Given the description of an element on the screen output the (x, y) to click on. 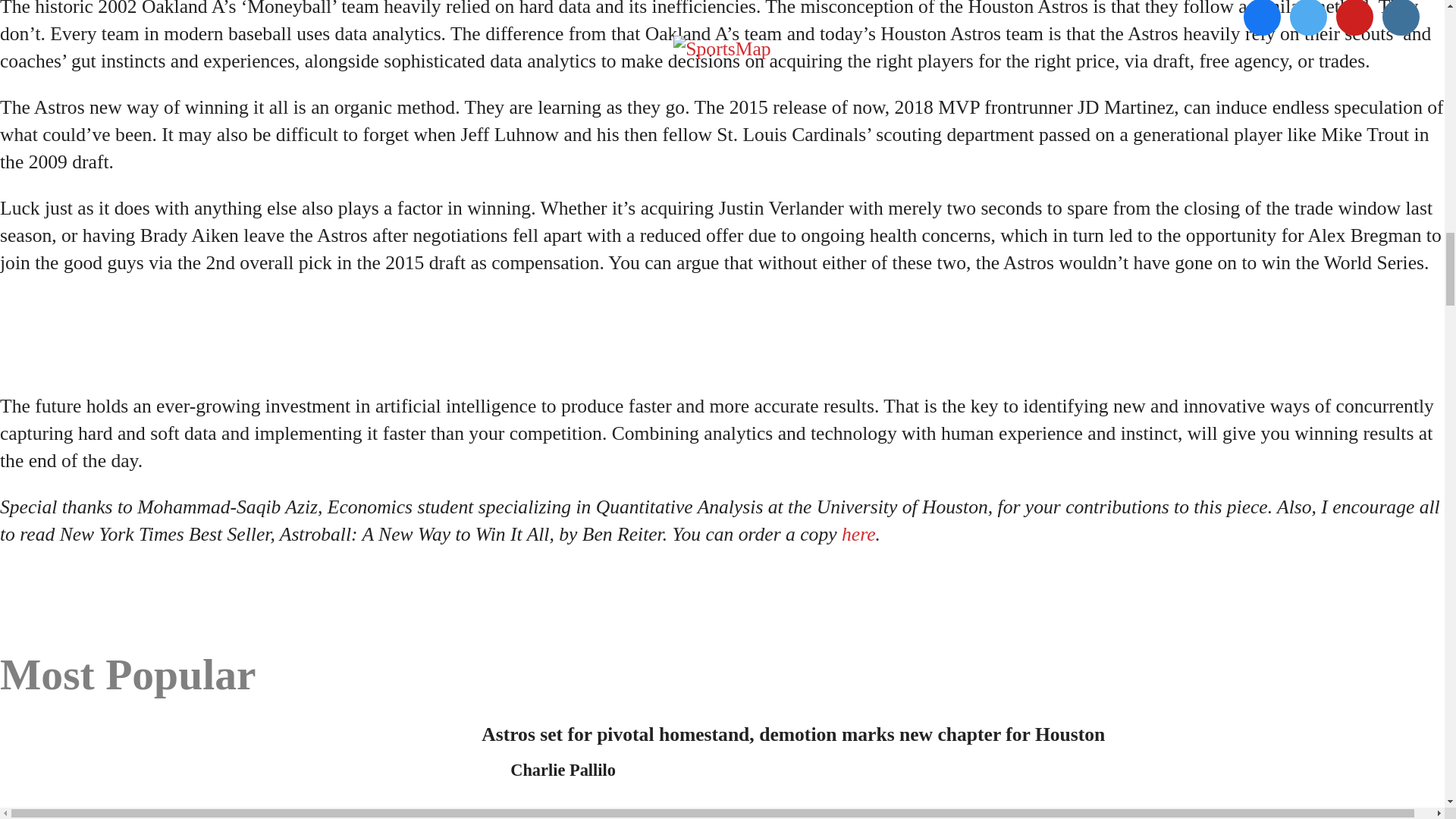
Charlie Pallilo (563, 769)
here (858, 534)
